Given the description of an element on the screen output the (x, y) to click on. 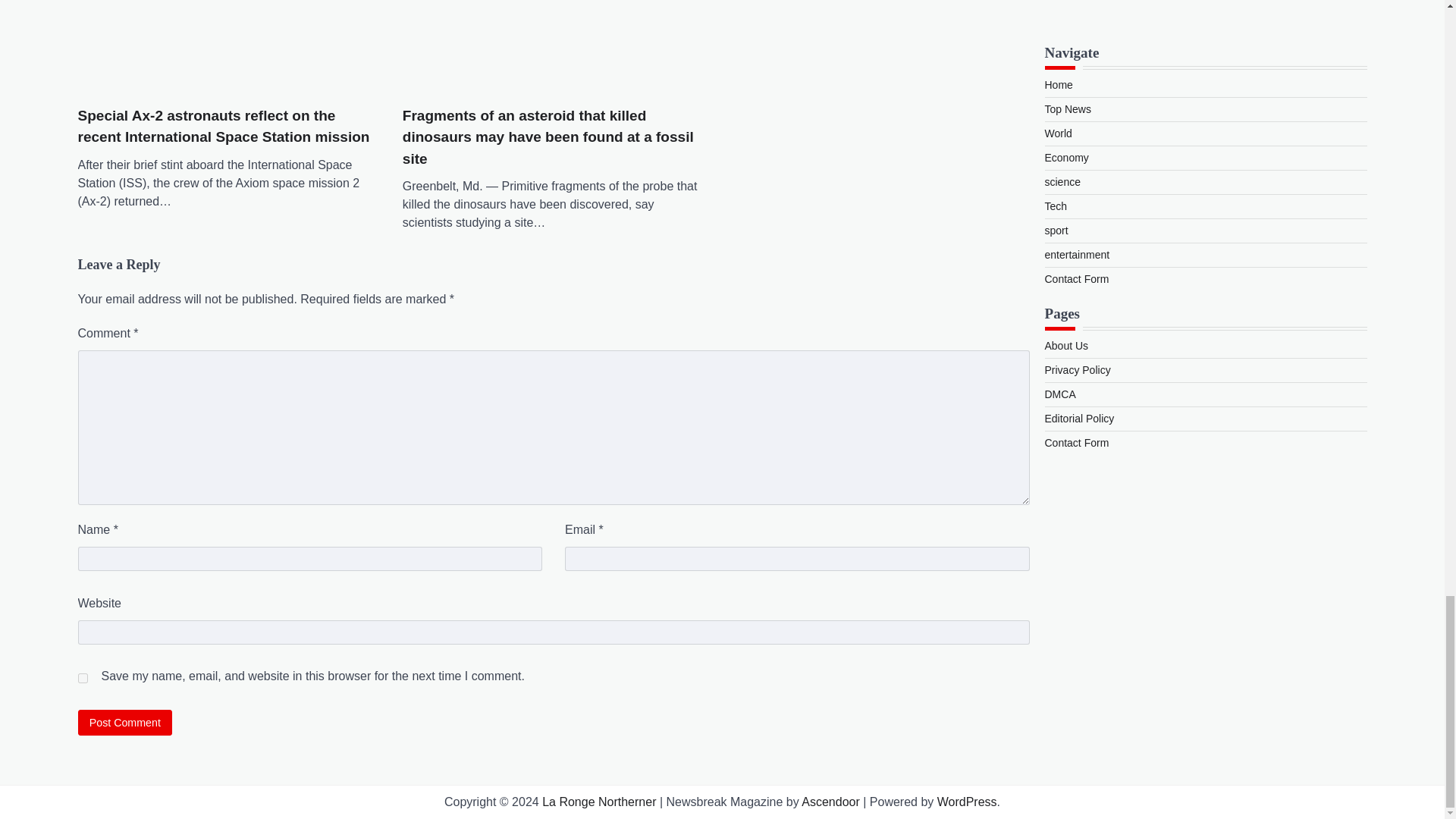
Post Comment (124, 722)
Post Comment (124, 722)
yes (82, 678)
